Given the description of an element on the screen output the (x, y) to click on. 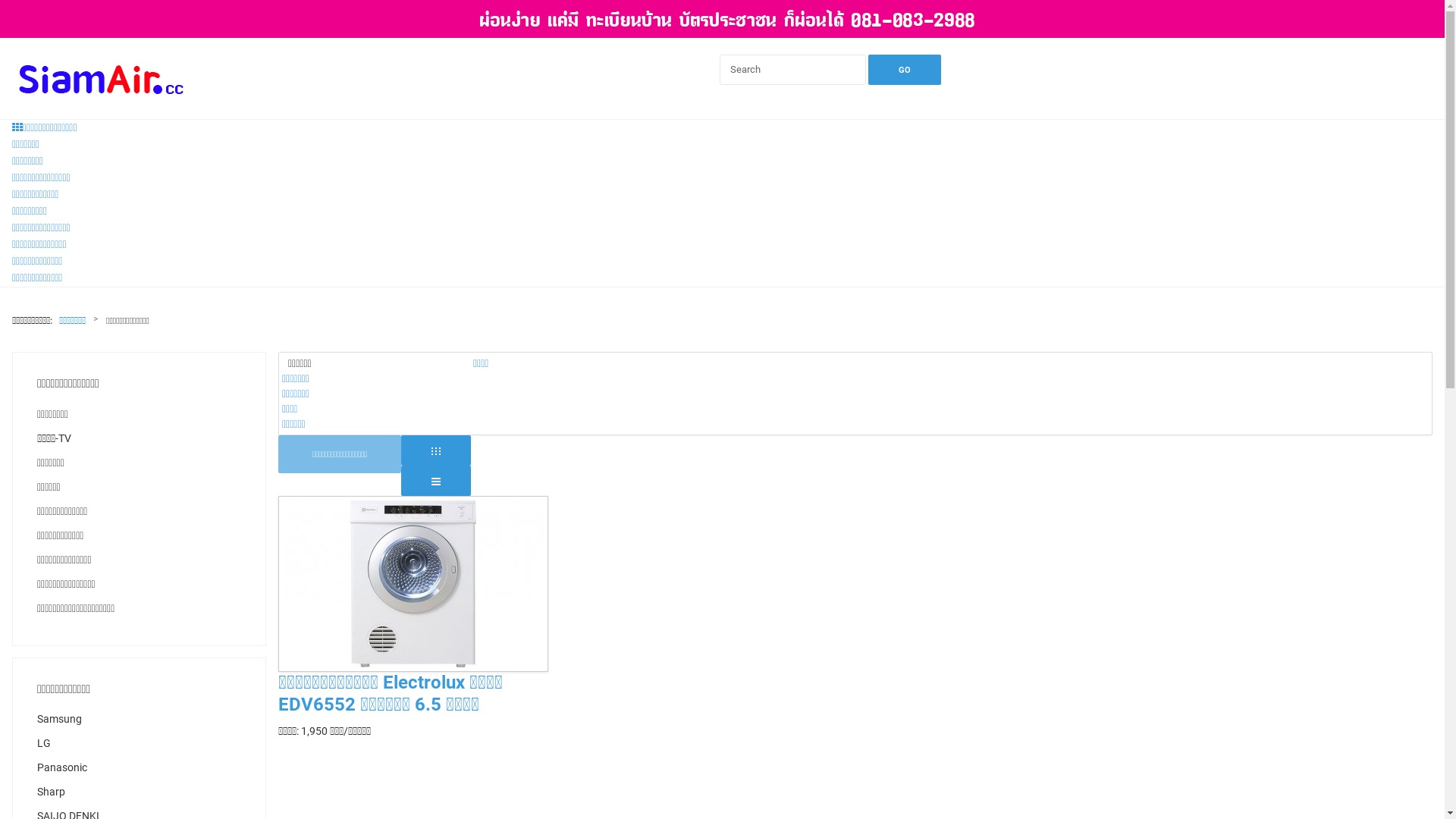
LG Element type: text (139, 743)
Sharp Element type: text (139, 792)
GO Element type: text (904, 69)
Swtich to table layout Element type: hover (435, 480)
Samsung Element type: text (139, 719)
search Element type: text (46, 15)
Switch to grid layout Element type: hover (435, 450)
Panasonic Element type: text (139, 768)
